Given the description of an element on the screen output the (x, y) to click on. 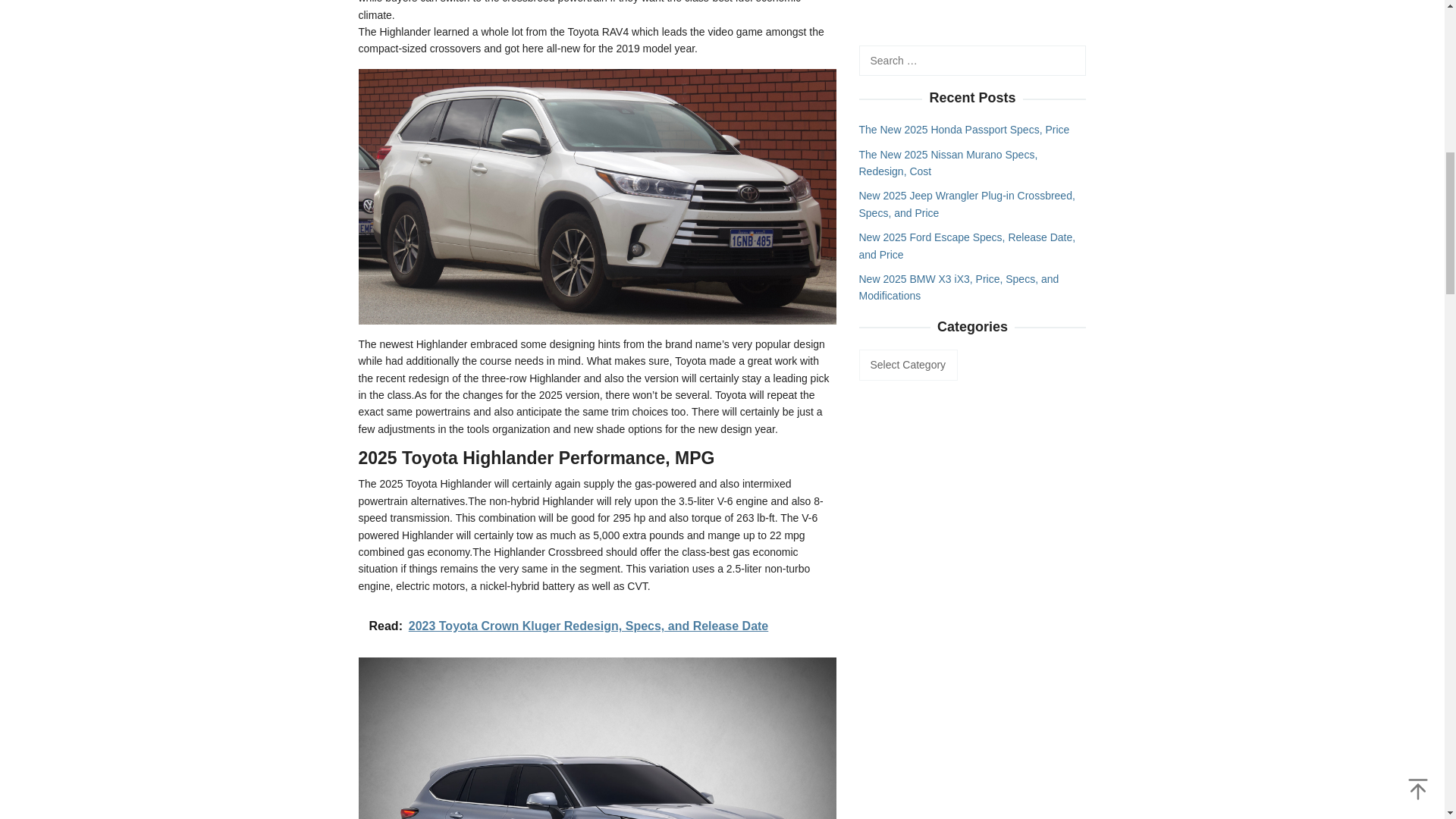
Toyota Highlander Price (596, 196)
Toyota Highlander Interior (596, 738)
Toyota Highlander Price (596, 195)
